Given the description of an element on the screen output the (x, y) to click on. 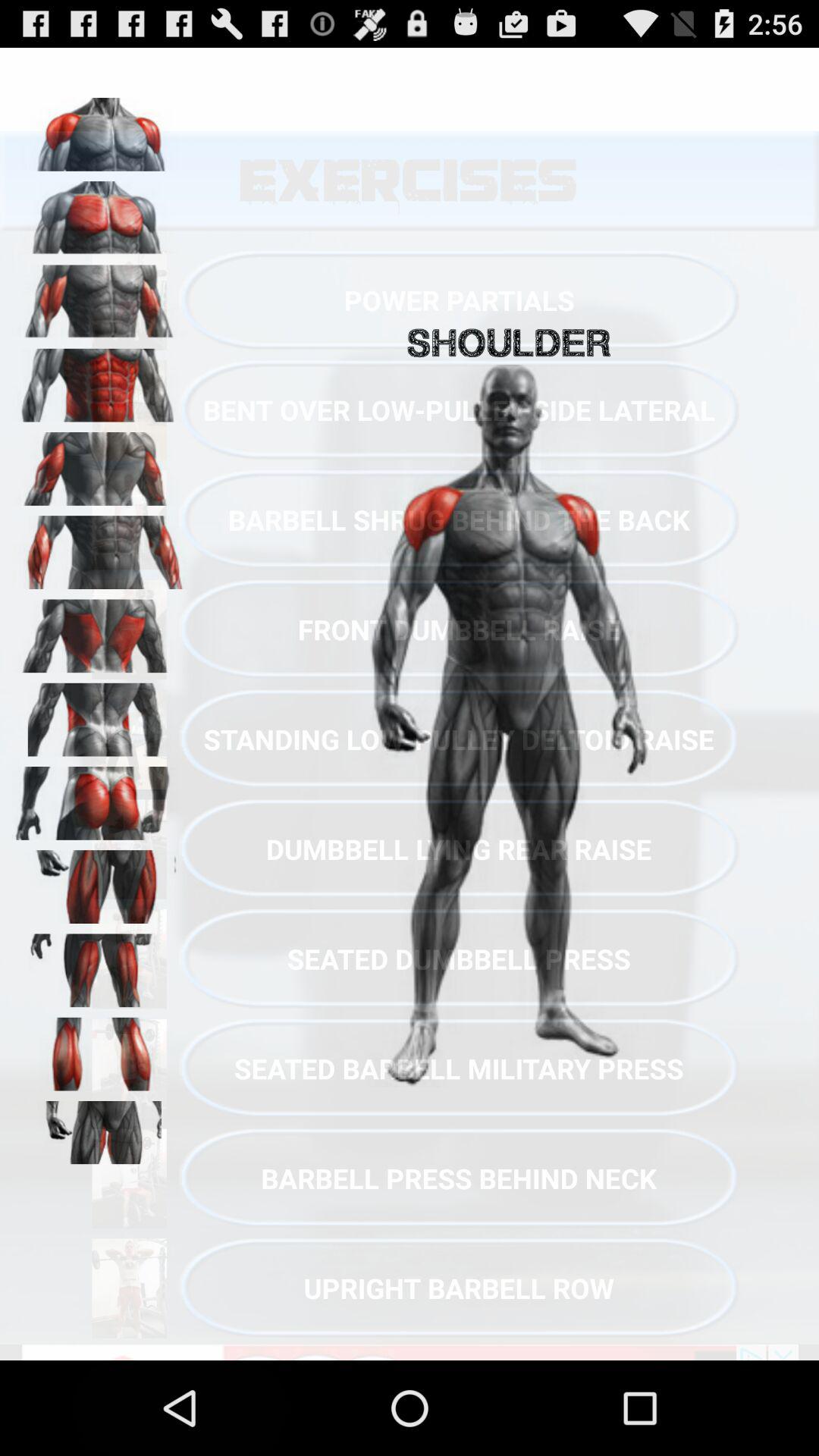
show workouts for legs (99, 881)
